Given the description of an element on the screen output the (x, y) to click on. 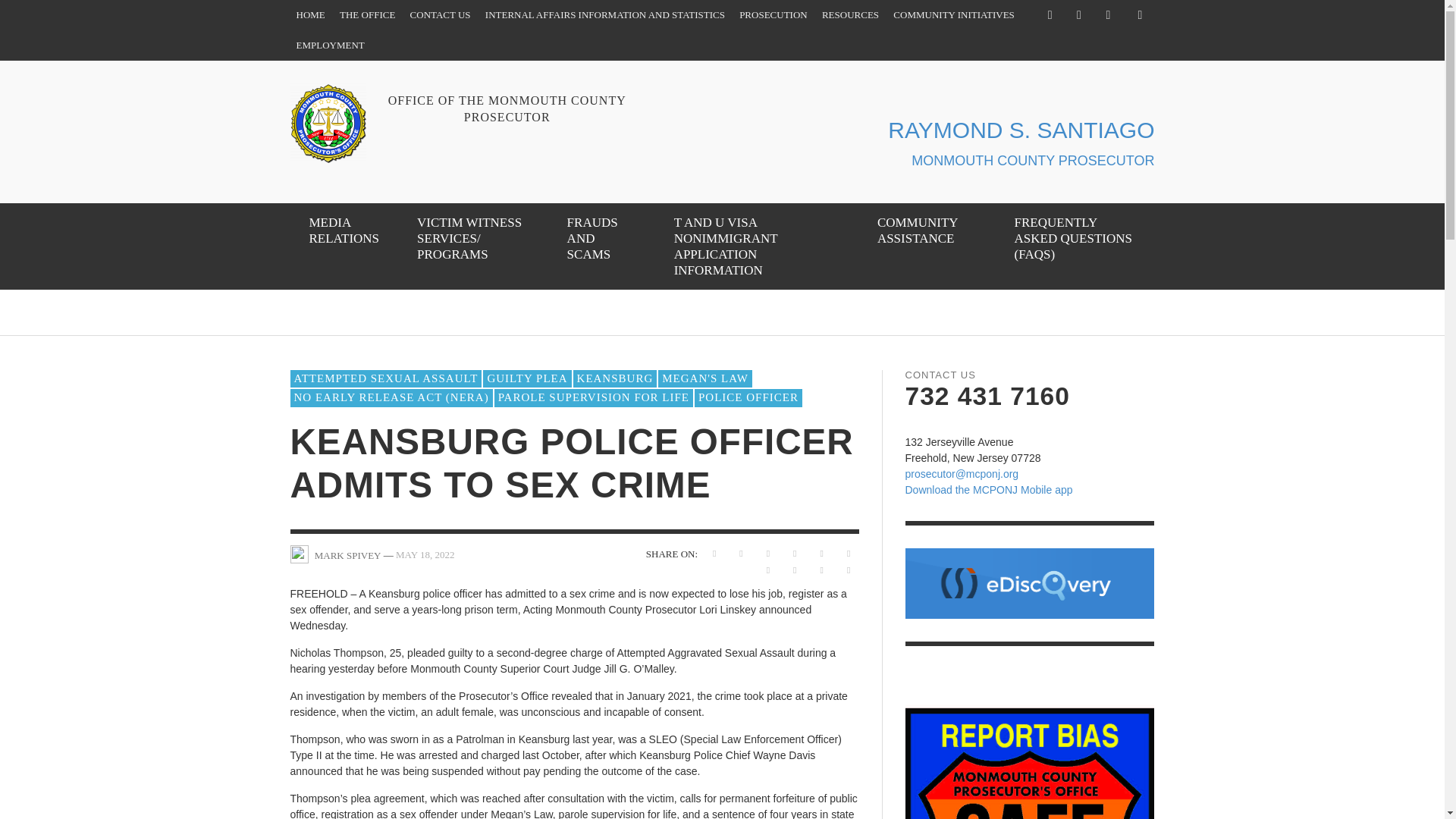
CONTACT US (440, 15)
HOME (309, 15)
Twitter (1078, 15)
THE OFFICE (367, 15)
INTERNAL AFFAIRS INFORMATION AND STATISTICS (604, 15)
Youtube (1107, 15)
Facebook (1049, 15)
PROSECUTION (773, 15)
